Given the description of an element on the screen output the (x, y) to click on. 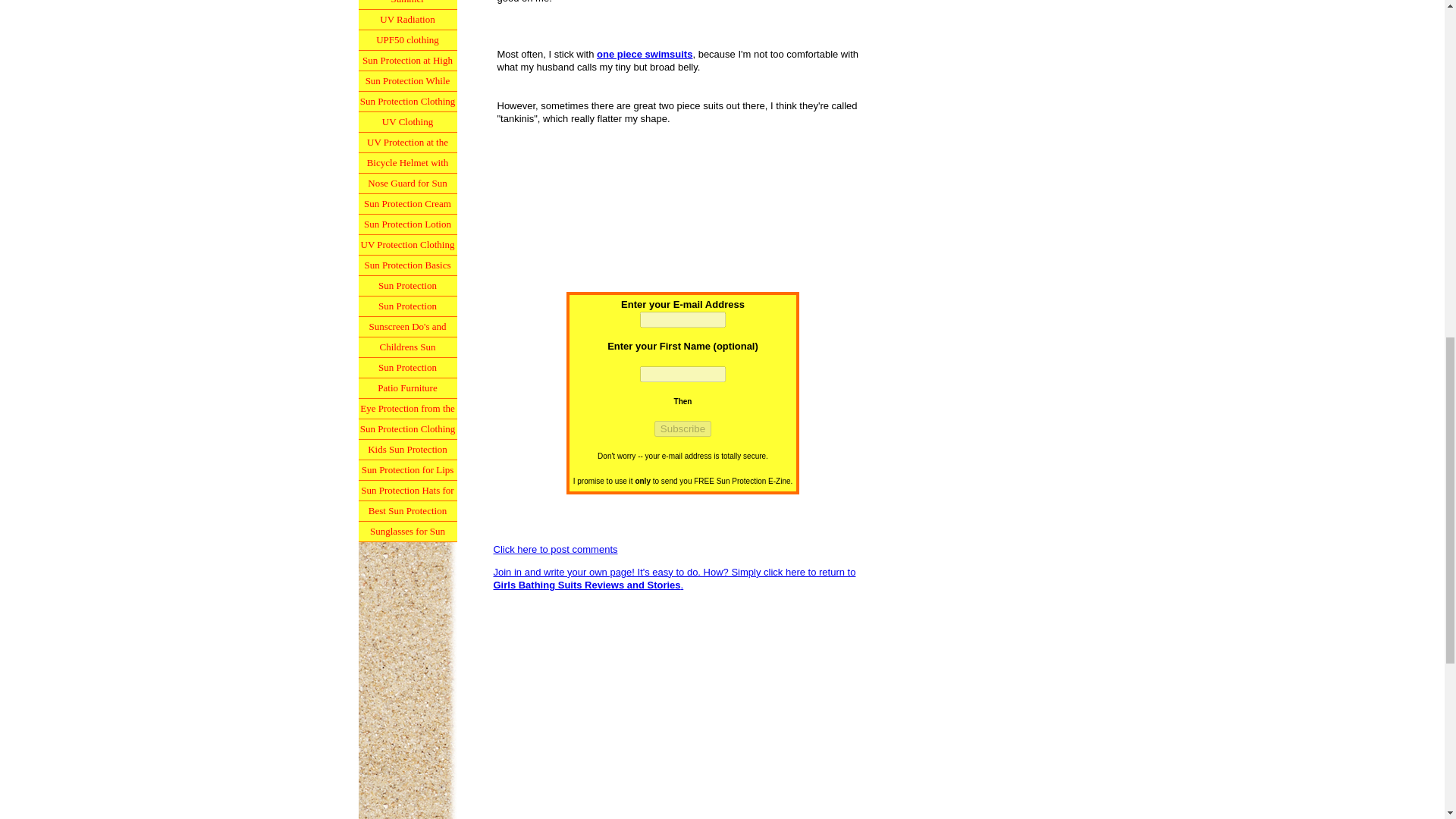
one piece swimsuits (644, 53)
Click here to post comments (555, 549)
Subscribe (682, 428)
Advertisement (681, 707)
